Given the description of an element on the screen output the (x, y) to click on. 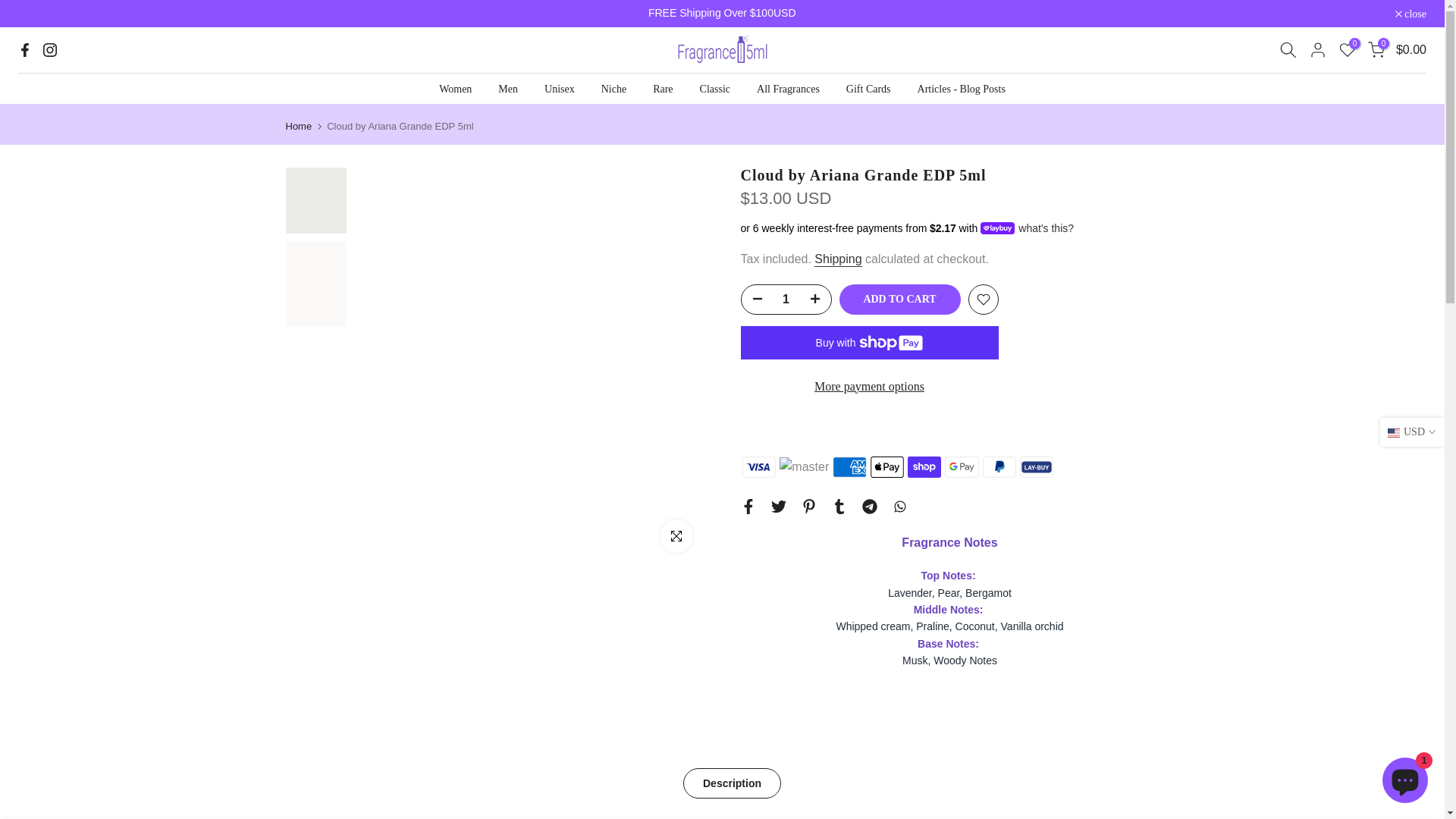
Articles - Blog Posts (960, 89)
Shipping (837, 259)
Unisex (559, 89)
close (1410, 14)
Gift Cards (868, 89)
Shopify online store chat (1404, 781)
Classic (713, 89)
Women (455, 89)
what's this? (1044, 227)
Home (298, 126)
Description (731, 783)
ADD TO CART (898, 299)
Men (507, 89)
1 (786, 299)
Skip to content (10, 7)
